Given the description of an element on the screen output the (x, y) to click on. 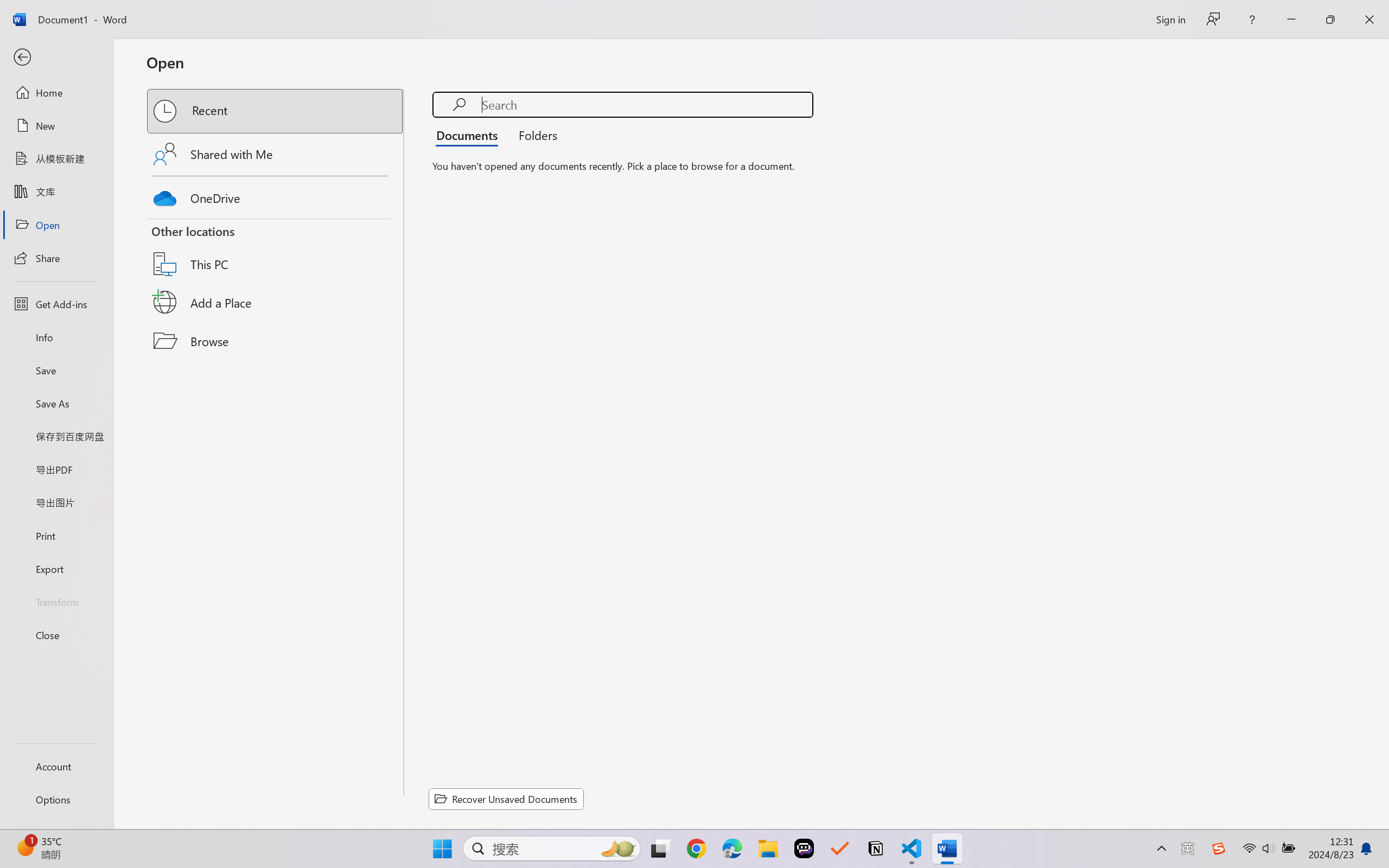
Print (56, 535)
Transform (56, 601)
Shared with Me (275, 153)
